Given the description of an element on the screen output the (x, y) to click on. 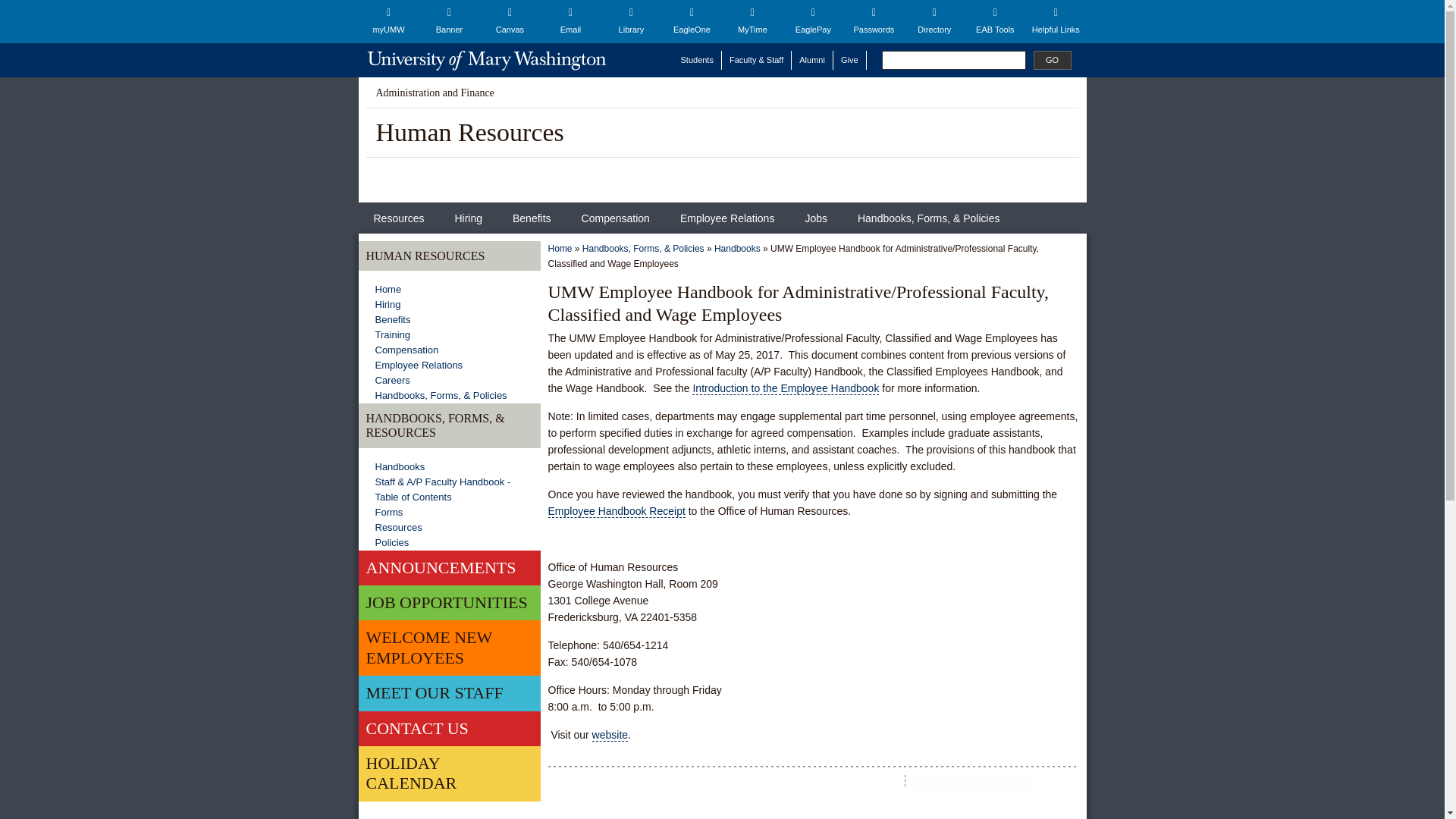
EAB Tools (994, 21)
Banner (449, 21)
Resources (398, 217)
Helpful Links (1055, 21)
myUMW (388, 21)
Passwords (873, 21)
Alumni (812, 59)
Go (1051, 59)
search (952, 59)
Email (569, 21)
Canvas (509, 21)
Students (697, 59)
Administration and Finance (435, 92)
EagleOne (691, 21)
Compensation (615, 217)
